Given the description of an element on the screen output the (x, y) to click on. 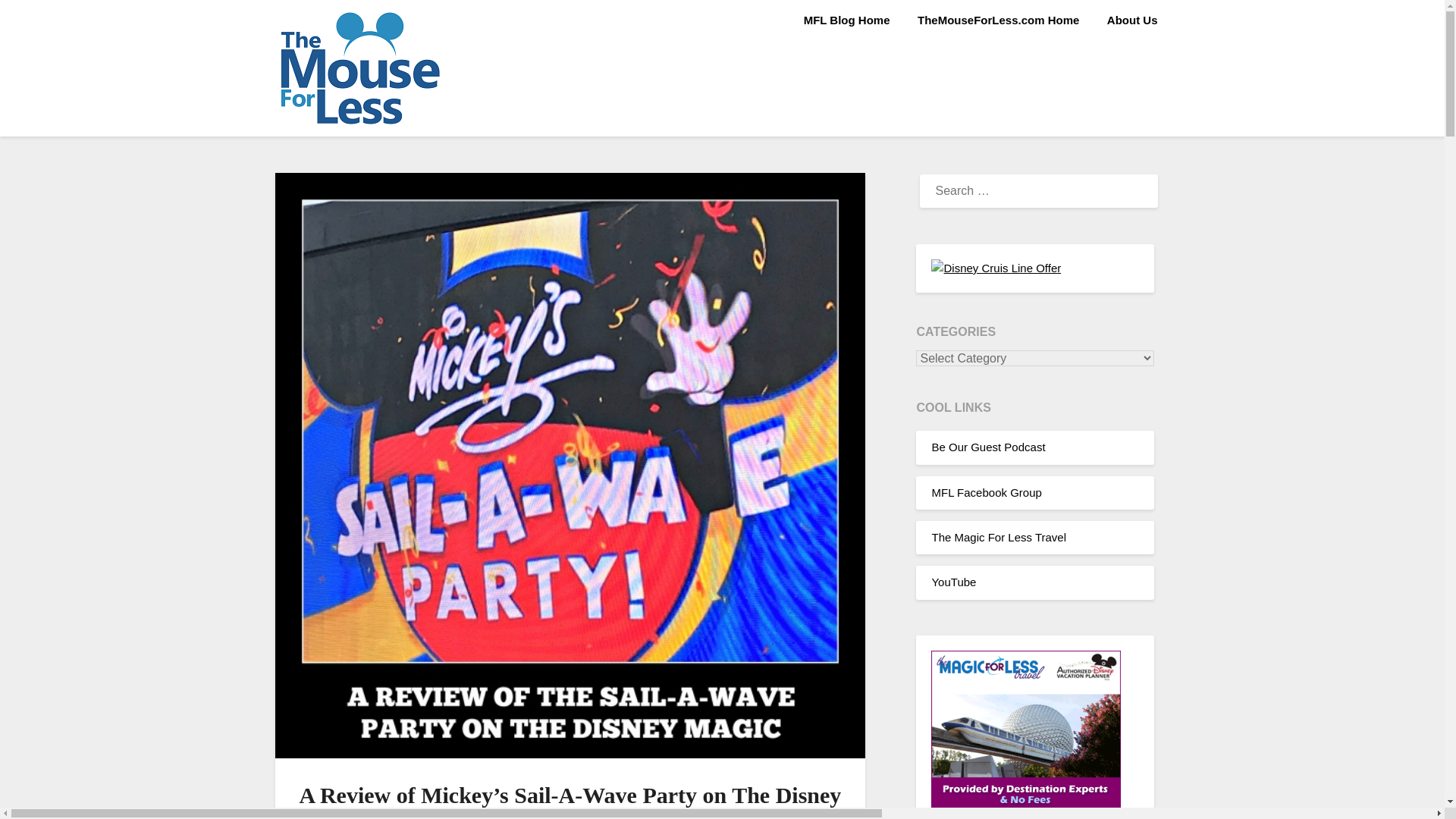
MFL Blog Home (847, 20)
Be Our Guest Podcast (988, 446)
MFL Facebook Group (986, 492)
YouTube (953, 581)
TheMouseForLess.com Home (997, 20)
TheMouseForLess You Tube Channel (953, 581)
The Magic For Less Travel (998, 536)
About Us (1132, 20)
The Mouse For Less Facebook Group (986, 492)
Search (38, 22)
